Given the description of an element on the screen output the (x, y) to click on. 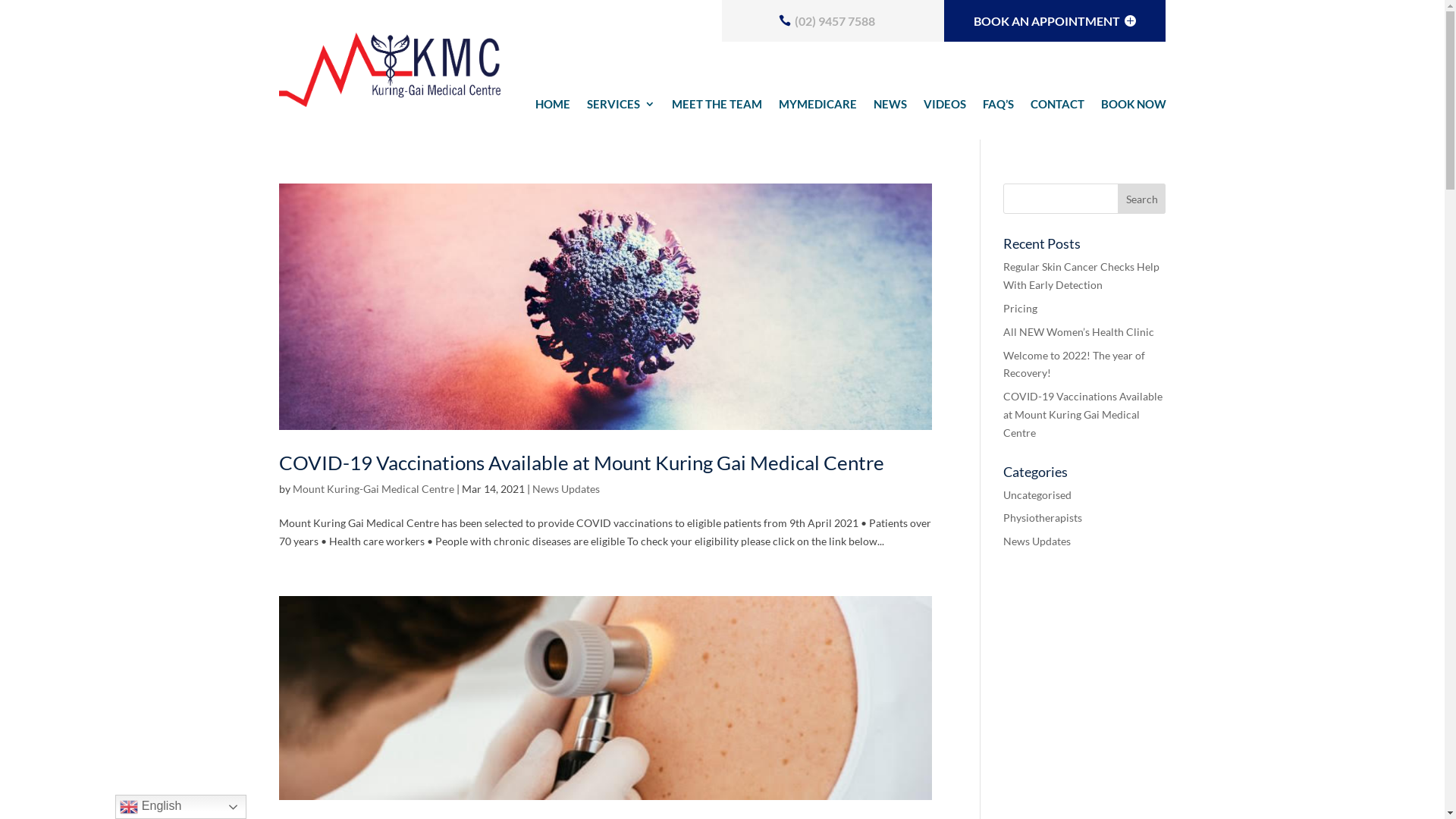
CONTACT Element type: text (1056, 106)
Pricing Element type: text (1020, 307)
Regular Skin Cancer Checks Help With Early Detection Element type: text (1081, 275)
(02) 9457 7588 Element type: text (832, 20)
BOOK AN APPOINTMENT Element type: text (1054, 20)
Mount Kuring-Gai Medical Centre Element type: text (373, 488)
News Updates Element type: text (1036, 540)
SERVICES Element type: text (620, 106)
News Updates Element type: text (565, 488)
MEET THE TEAM Element type: text (716, 106)
HOME Element type: text (552, 106)
VIDEOS Element type: text (944, 106)
Uncategorised Element type: text (1037, 494)
Physiotherapists Element type: text (1042, 517)
Search Element type: text (1141, 198)
Welcome to 2022! The year of Recovery! Element type: text (1074, 363)
MYMEDICARE Element type: text (817, 106)
BOOK NOW Element type: text (1133, 106)
Mount Kuring Gai Medical Centre Element type: hover (390, 69)
NEWS Element type: text (889, 106)
